Given the description of an element on the screen output the (x, y) to click on. 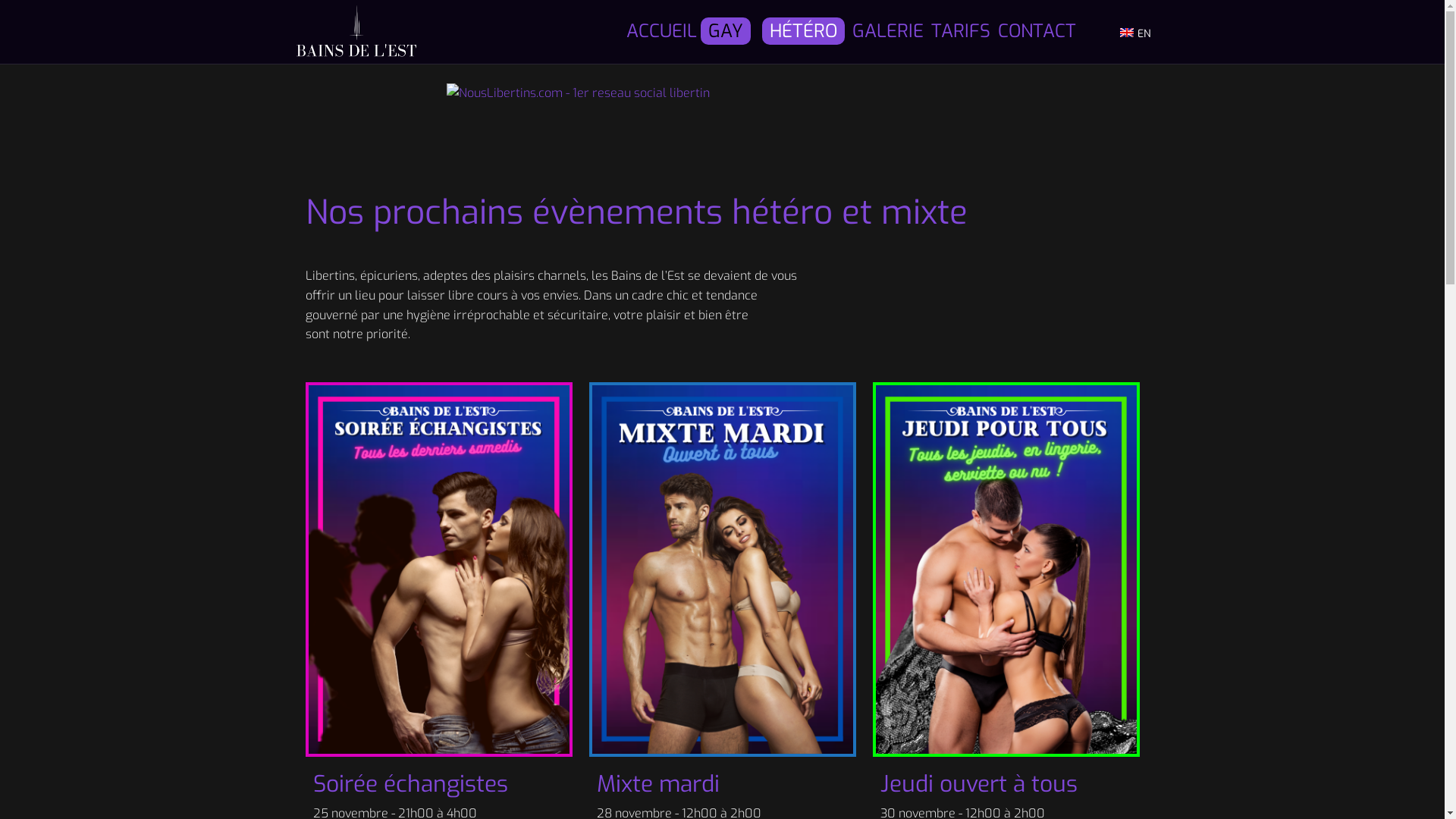
Mixte mardi Element type: text (657, 783)
ACCUEIL Element type: text (661, 31)
TARIFS Element type: text (960, 31)
CONTACT Element type: text (1036, 31)
En Element type: hover (1126, 32)
GAY Element type: text (725, 30)
GALERIE Element type: text (887, 31)
EN Element type: text (1135, 31)
